Given the description of an element on the screen output the (x, y) to click on. 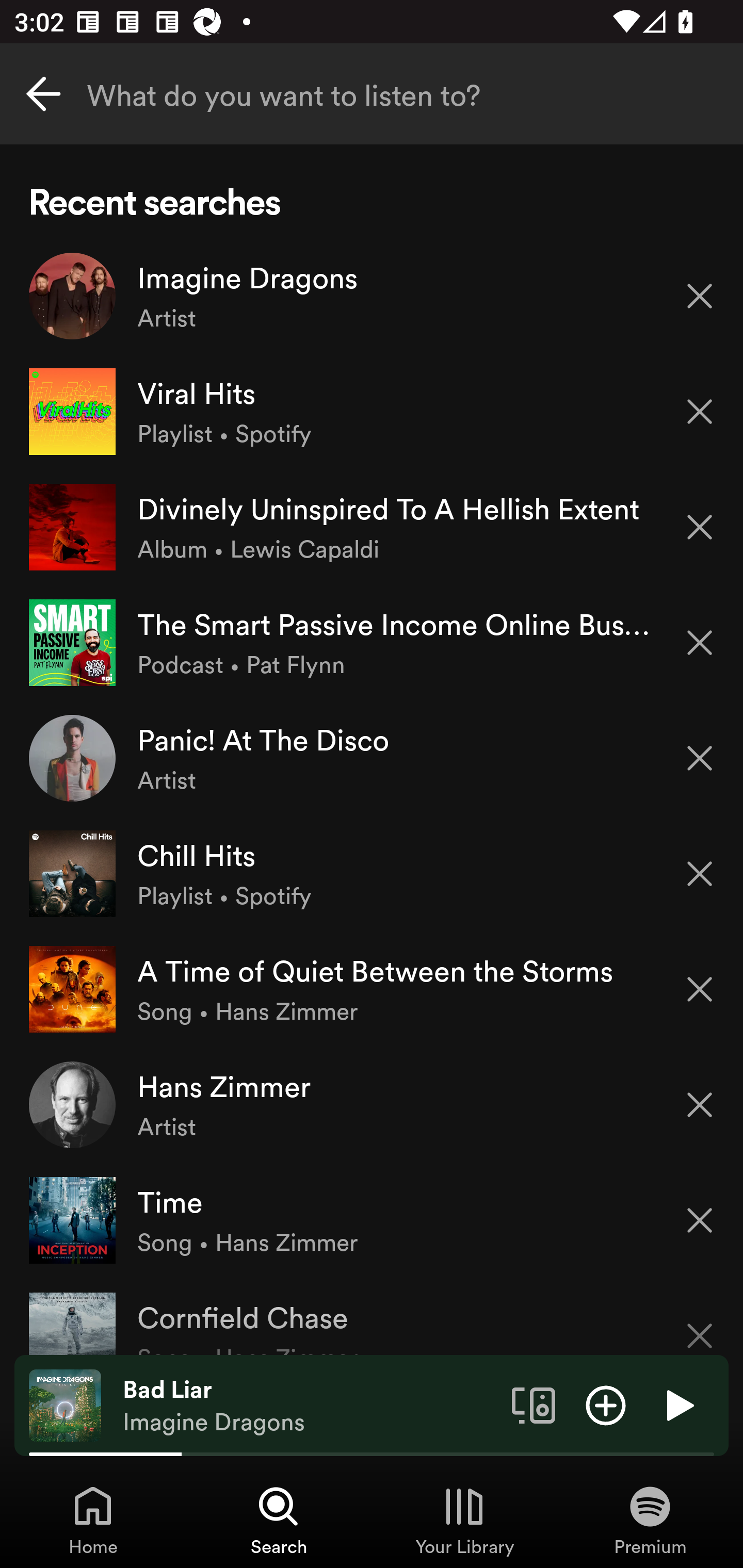
What do you want to listen to? (371, 93)
Cancel (43, 93)
Imagine Dragons Artist Remove (371, 296)
Remove (699, 295)
Viral Hits Playlist • Spotify Remove (371, 411)
Remove (699, 411)
Remove (699, 527)
Remove (699, 642)
Panic! At The Disco Artist Remove (371, 757)
Remove (699, 758)
Chill Hits Playlist • Spotify Remove (371, 873)
Remove (699, 874)
Remove (699, 989)
Hans Zimmer Artist Remove (371, 1104)
Remove (699, 1104)
Time Song • Hans Zimmer Remove (371, 1219)
Remove (699, 1220)
